Given the description of an element on the screen output the (x, y) to click on. 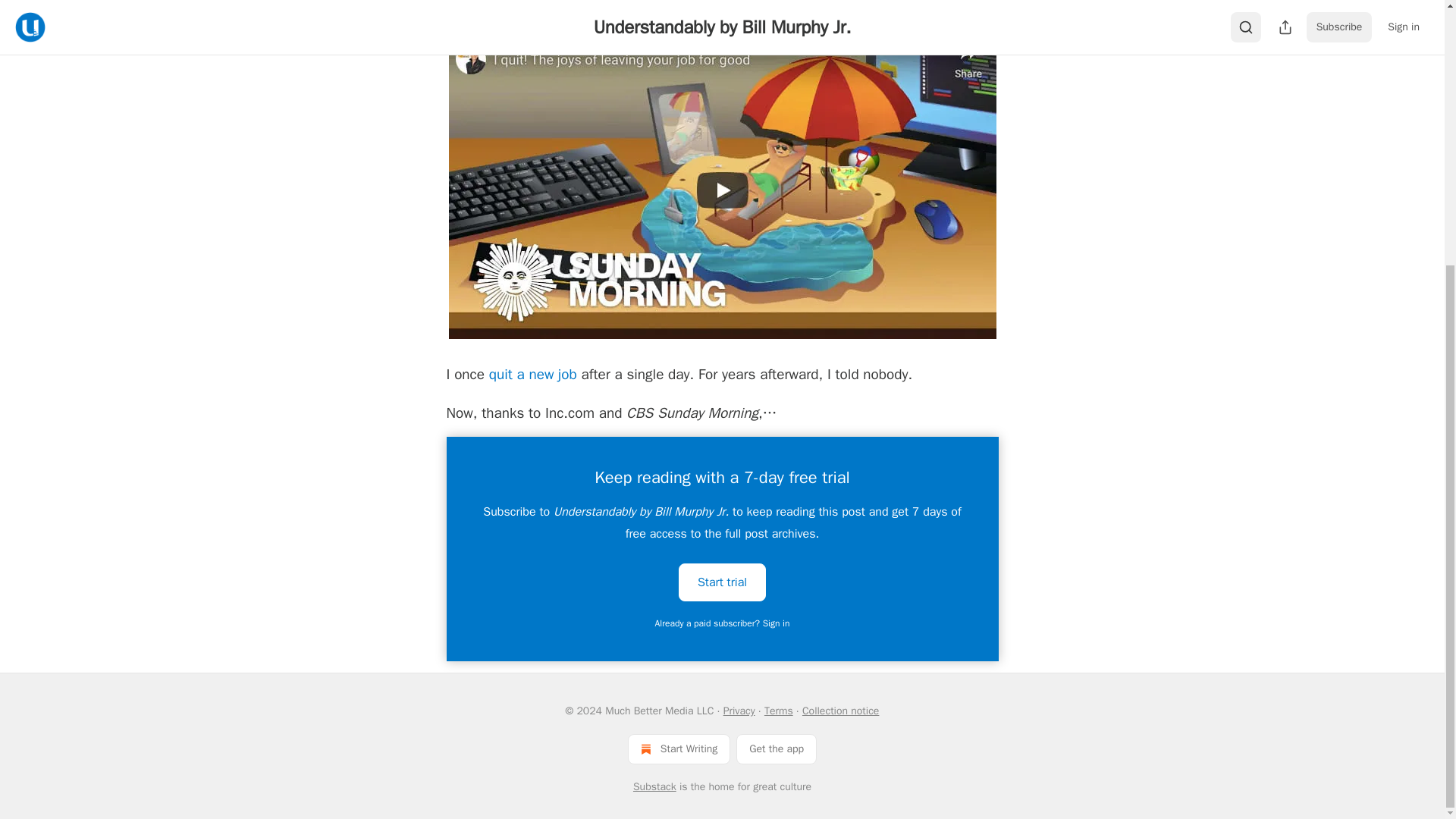
Privacy (739, 710)
Start trial (721, 582)
Already a paid subscriber? Sign in (722, 623)
Start Writing (678, 748)
quit a new job (532, 374)
Start trial (721, 581)
Get the app (776, 748)
Collection notice (840, 710)
Subscribe (827, 6)
Terms (778, 710)
Substack (655, 786)
